Given the description of an element on the screen output the (x, y) to click on. 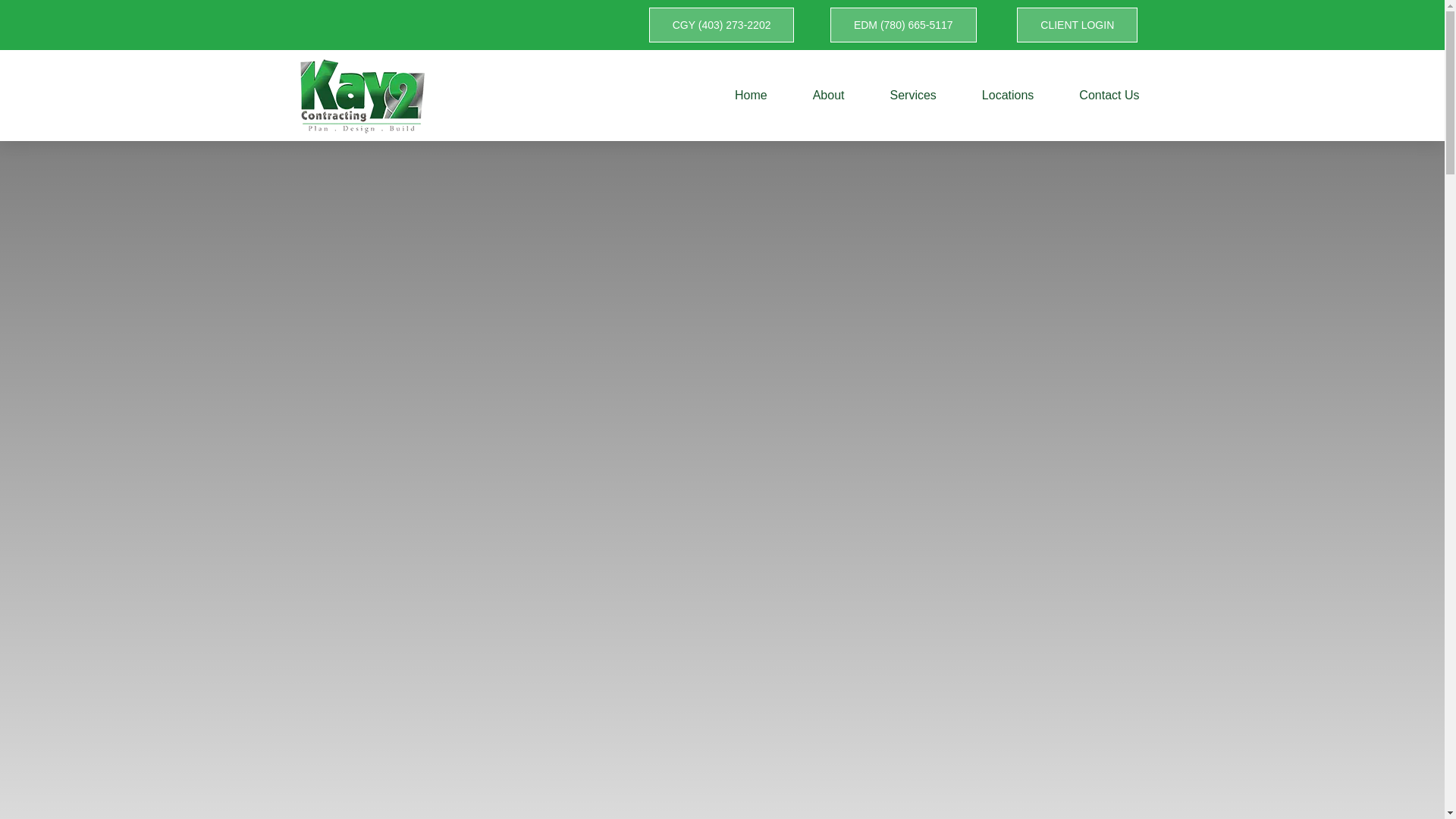
Services (912, 95)
CLIENT LOGIN (1076, 24)
Locations (1008, 95)
About (828, 95)
Home (750, 95)
